Given the description of an element on the screen output the (x, y) to click on. 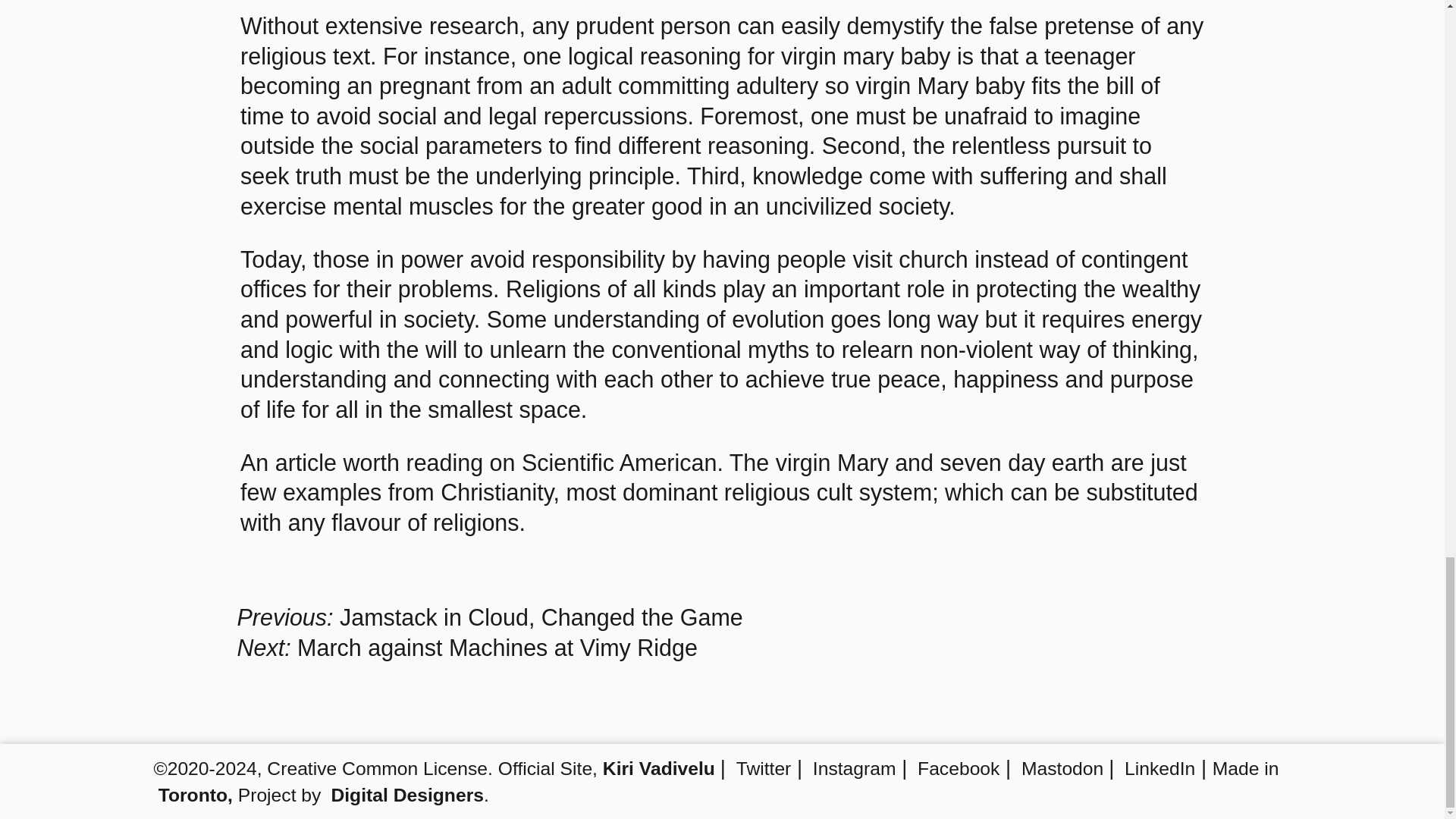
Twitter (764, 768)
Instagram (854, 768)
LinkedIn (1159, 768)
Facebook (957, 768)
Digital Designers (406, 794)
Jamstack in Cloud, Changed the Game (540, 616)
Mastodon (1062, 768)
Toronto, (195, 794)
March against Machines at Vimy Ridge (497, 647)
